Given the description of an element on the screen output the (x, y) to click on. 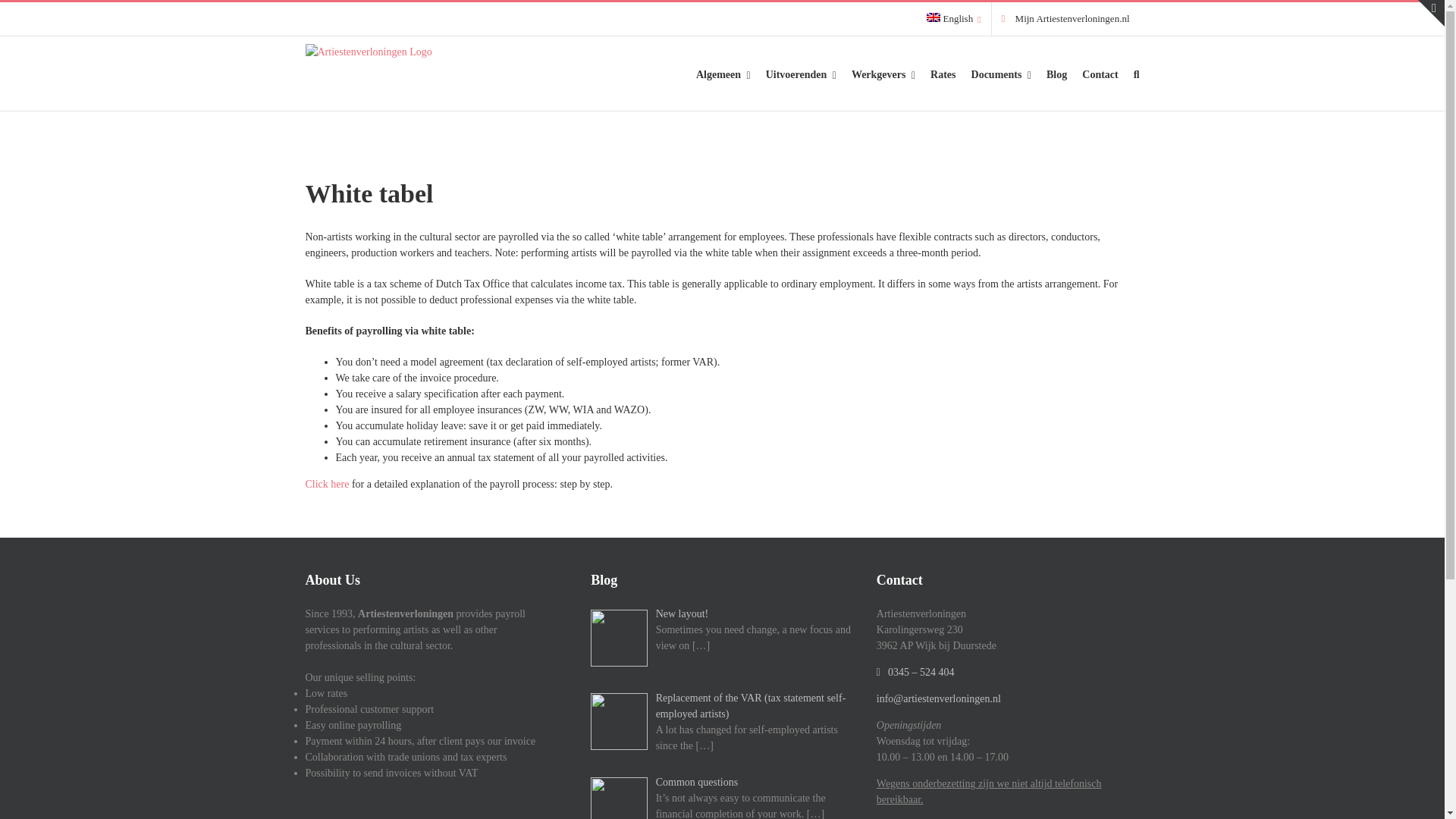
English (954, 19)
Mijn Artiestenverloningen.nl (1065, 19)
English (954, 19)
Uitvoerenden (800, 73)
New layout! (722, 613)
Click here (326, 483)
Common questions (722, 781)
